Given the description of an element on the screen output the (x, y) to click on. 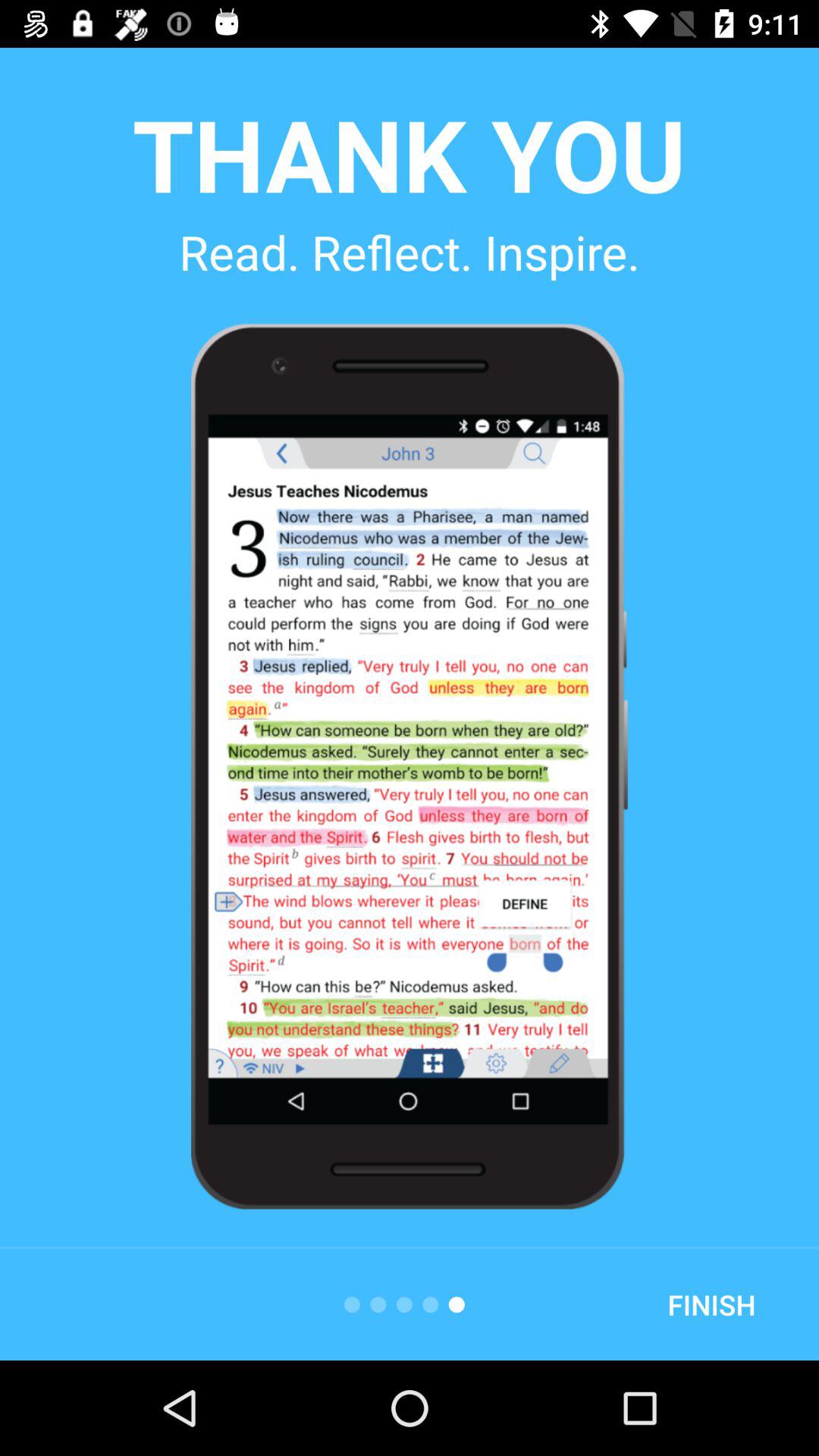
turn on item at the bottom right corner (711, 1304)
